Given the description of an element on the screen output the (x, y) to click on. 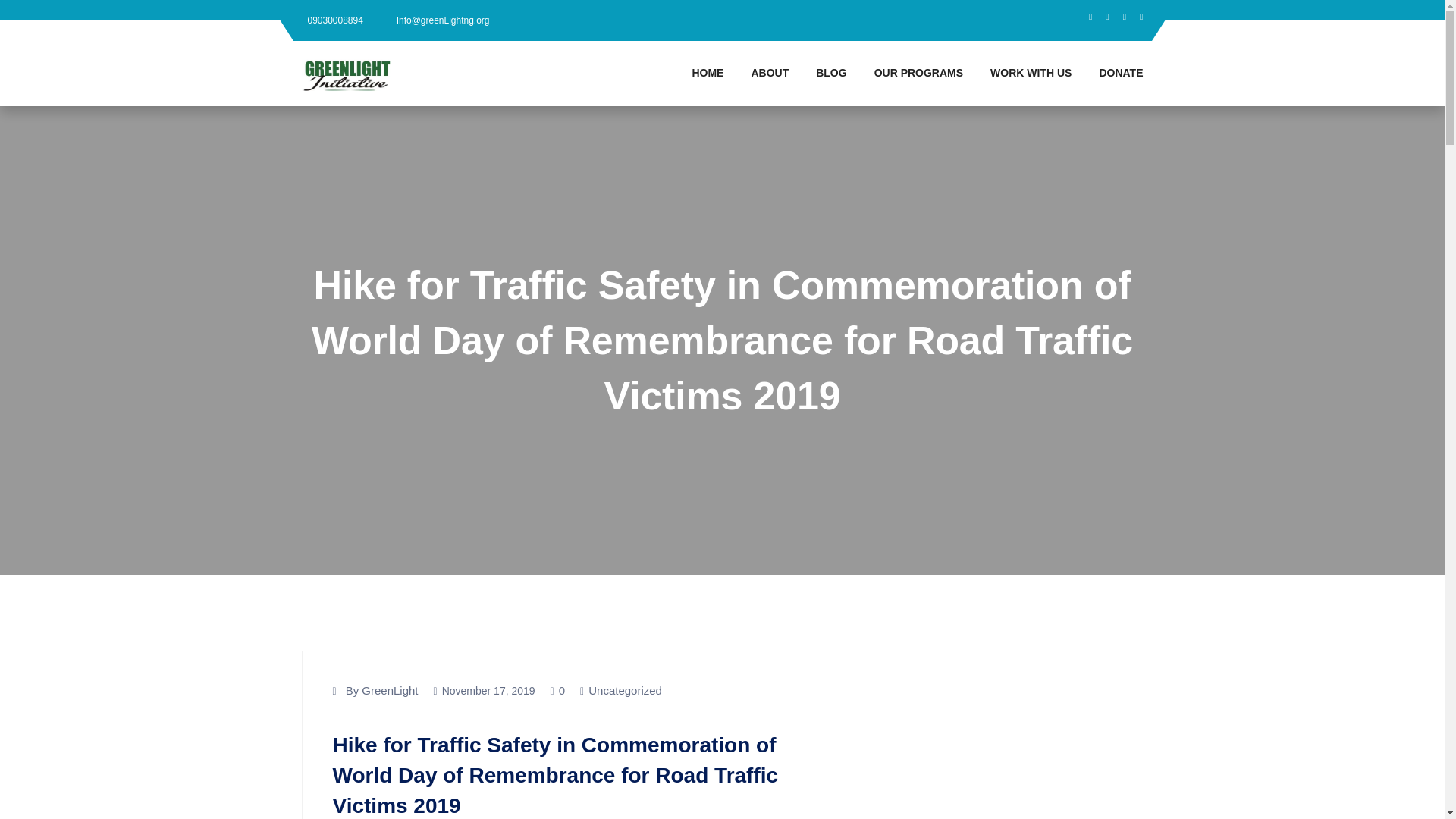
Uncategorized (625, 689)
BLOG (831, 72)
DONATE (1113, 72)
HOME (707, 72)
ABOUT (769, 72)
OUR PROGRAMS (918, 72)
WORK WITH US (1030, 72)
By GreenLight (382, 690)
